Given the description of an element on the screen output the (x, y) to click on. 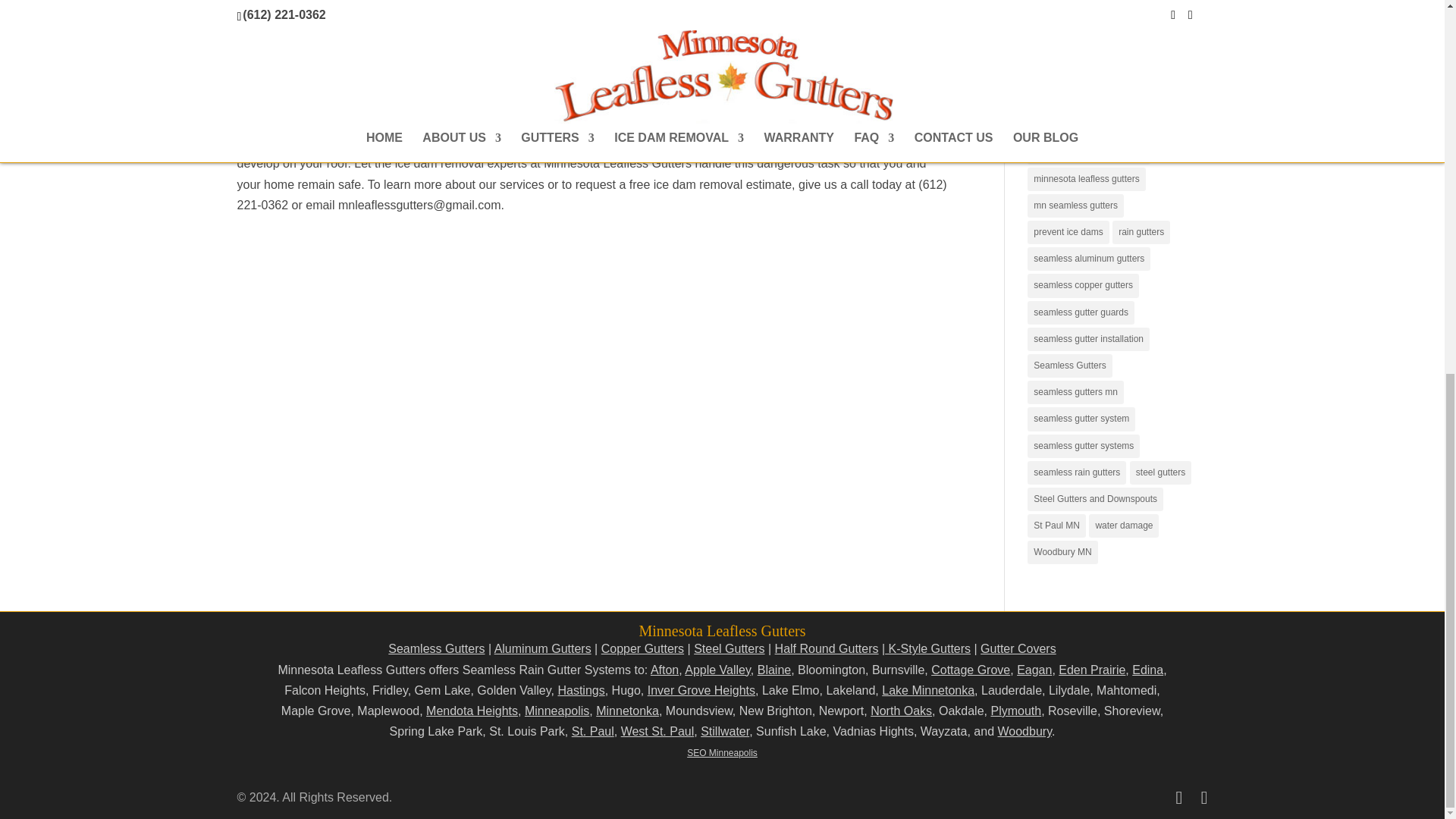
Minneapolis Search Engine Optimization Services (722, 752)
Seamless Gutters Minneapolis (556, 710)
Leafless Seamless Gutters North Oaks (900, 710)
Leafless Seamless Gutters Minnetonka MN (627, 710)
Seamless Gutter Guards Woodbury MN (1024, 730)
Seamless Gutters Inver Grove Heights (701, 689)
Professional Ice Dam Removal Team St Paul (413, 41)
Leafless Seamless Gutters Cottage Grove MN (970, 669)
Seamless Gutters West St Paul MN (657, 730)
Leafless Seamless Gutters Afton MN (664, 669)
Seamless Gutters St Paul MN (593, 730)
